Given the description of an element on the screen output the (x, y) to click on. 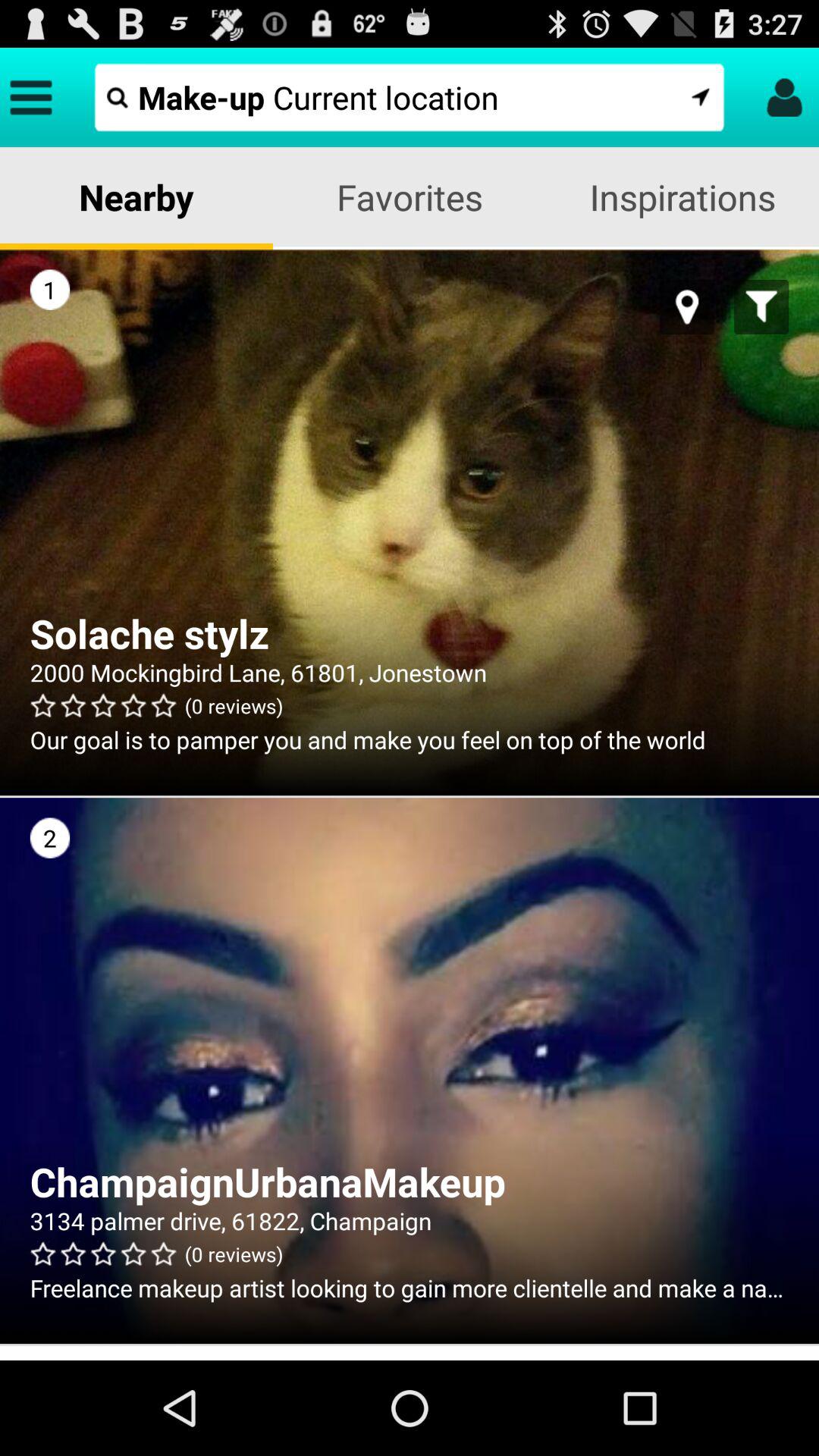
tap the icon above the (0 reviews) item (409, 1220)
